Given the description of an element on the screen output the (x, y) to click on. 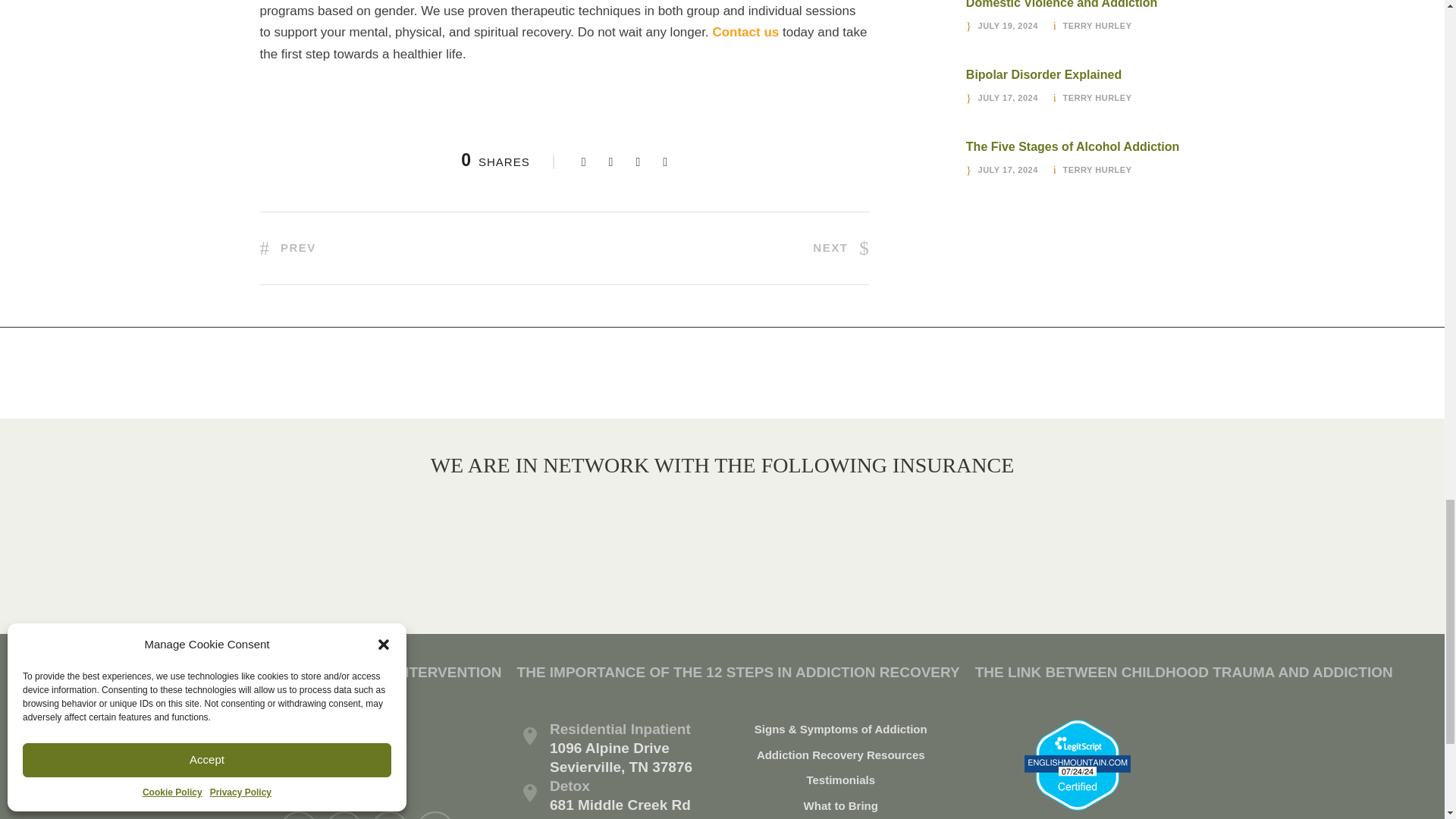
EMR-Types of Bipolar Disorder (920, 96)
Posts by Terry Hurley (1097, 169)
instagram (435, 815)
English Mountain Recovery Center (361, 750)
Posts by Terry Hurley (1097, 25)
Posts by Terry Hurley (1097, 97)
facebook (298, 815)
Verify LegitScript Approval (1078, 763)
linkedin (343, 815)
youtube (390, 815)
Aetna insurance (608, 531)
